Given the description of an element on the screen output the (x, y) to click on. 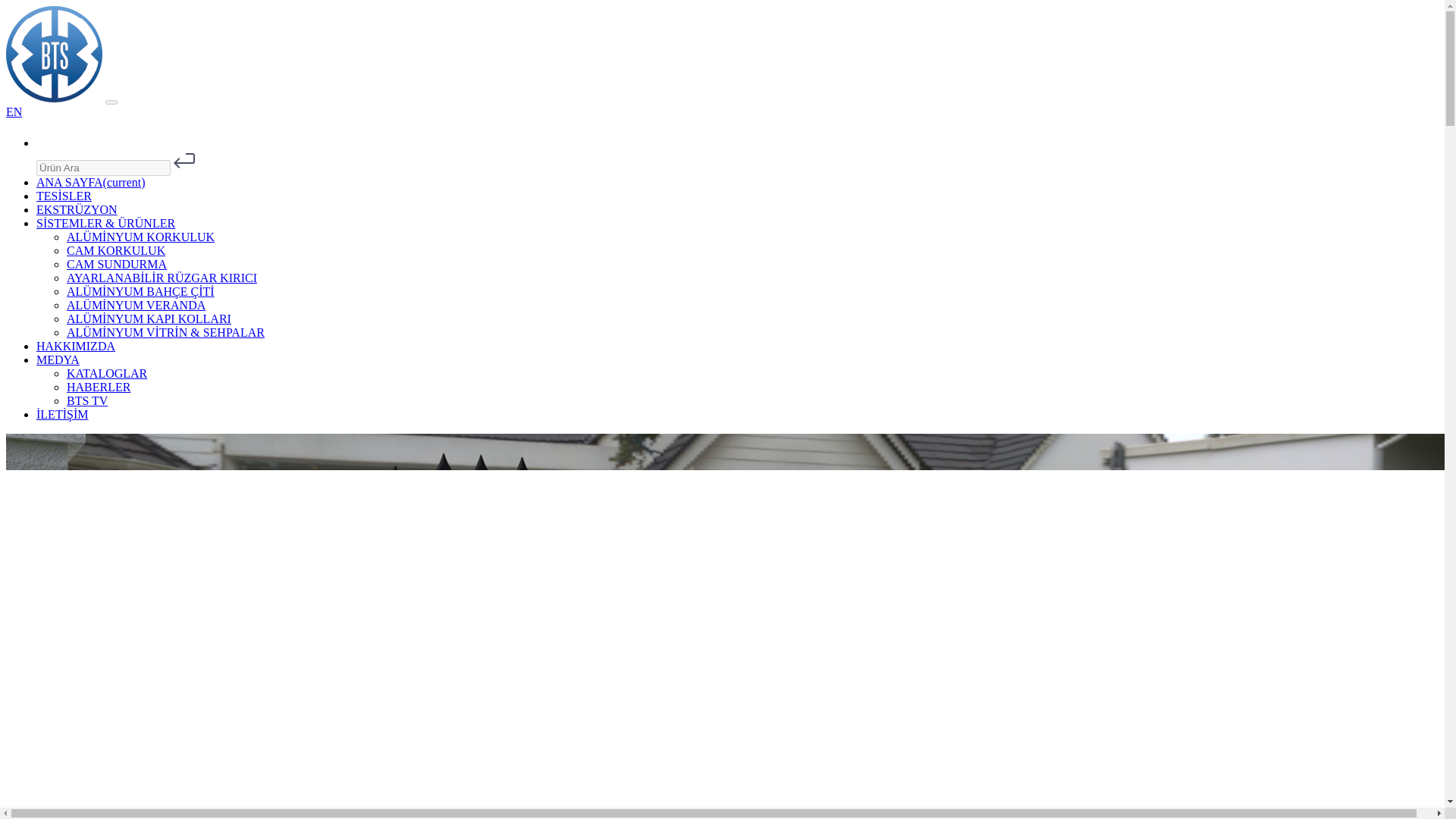
KATALOGLAR (106, 373)
CAM KORKULUK (115, 250)
BTS TV (86, 400)
HAKKIMIZDA (75, 345)
MEDYA (58, 359)
EN (13, 111)
HABERLER (98, 386)
CAM SUNDURMA (116, 264)
